Given the description of an element on the screen output the (x, y) to click on. 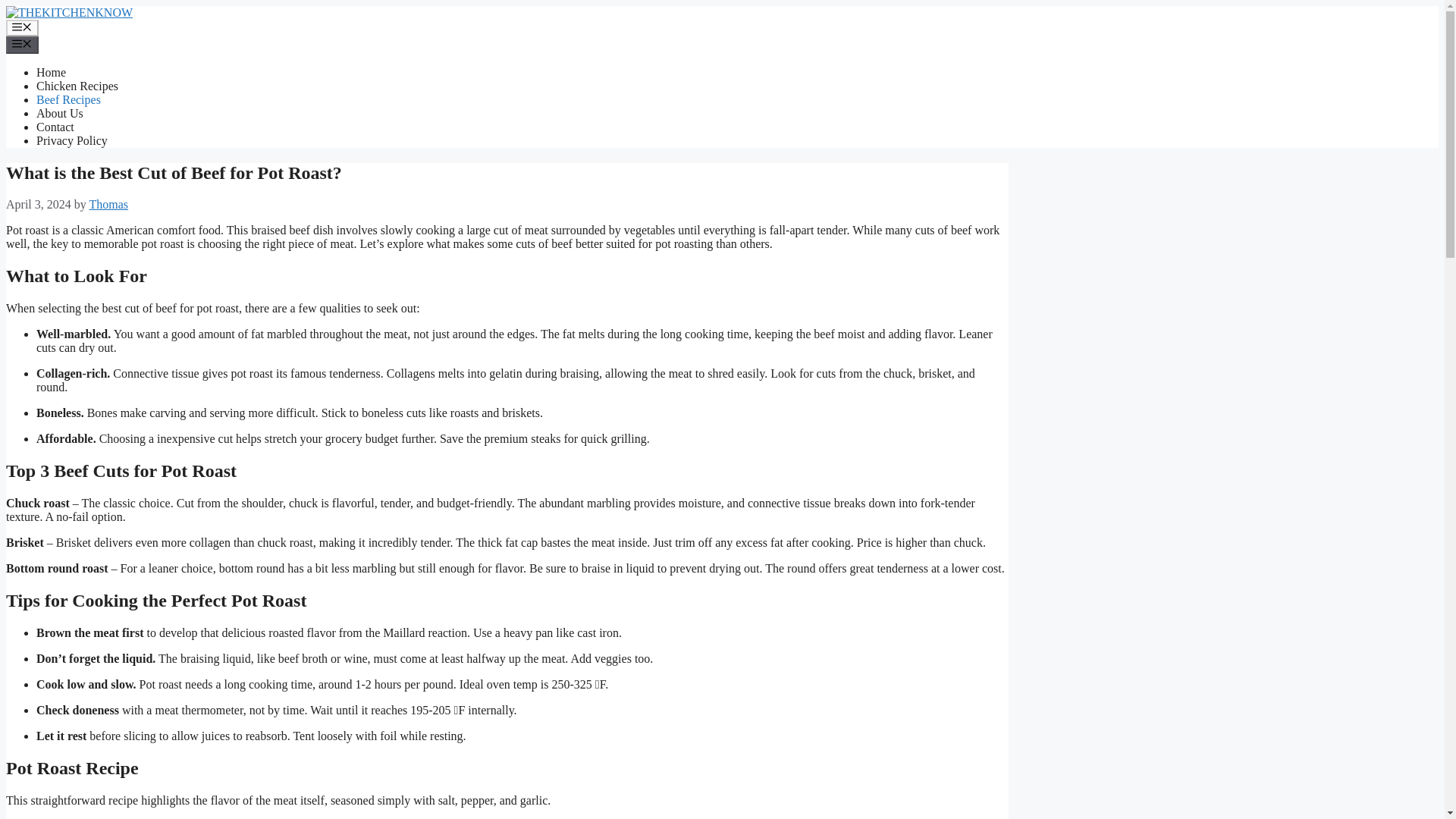
Thomas (108, 204)
Menu (22, 27)
Home (50, 72)
Contact (55, 126)
Menu (22, 44)
Privacy Policy (71, 140)
About Us (59, 113)
Beef Recipes (68, 99)
View all posts by Thomas (108, 204)
Chicken Recipes (76, 85)
